Given the description of an element on the screen output the (x, y) to click on. 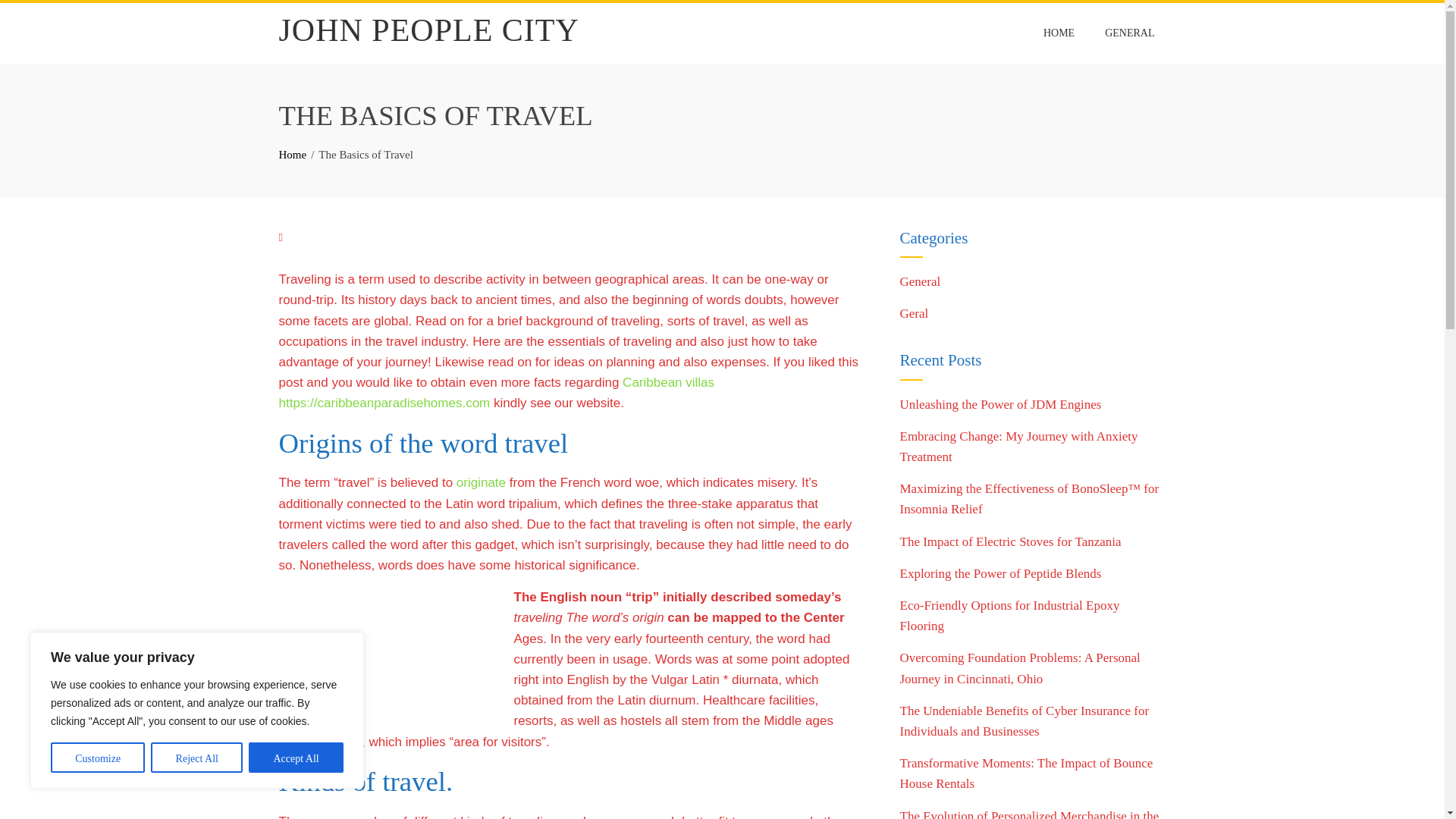
originate (481, 482)
Geral (913, 313)
GENERAL (1129, 32)
Reject All (197, 757)
Transformative Moments: The Impact of Bounce House Rentals (1026, 773)
Accept All (295, 757)
Unleashing the Power of JDM Engines (999, 404)
Customize (97, 757)
The Impact of Electric Stoves for Tanzania (1010, 541)
